Given the description of an element on the screen output the (x, y) to click on. 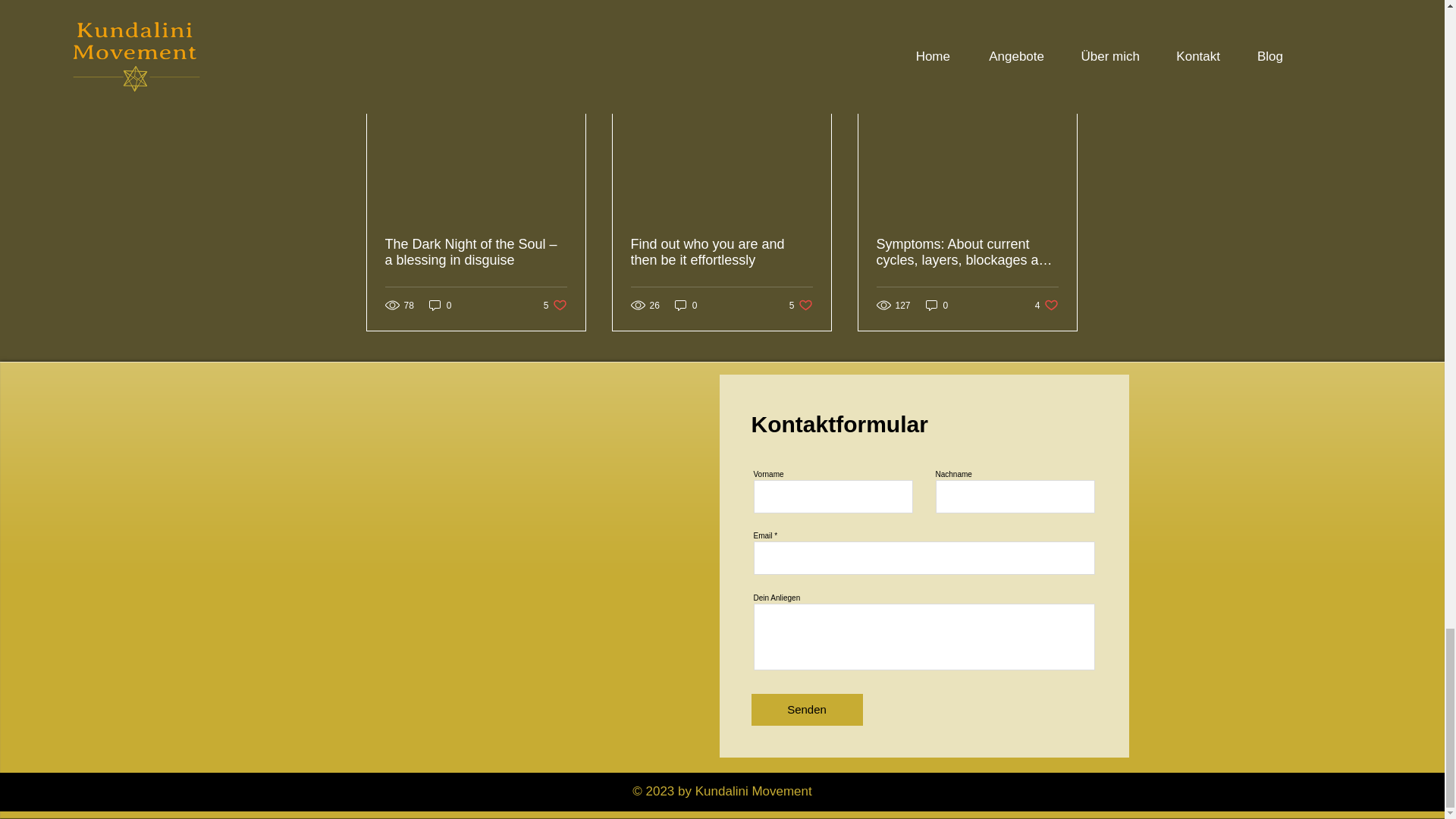
Senden (806, 709)
0 (685, 305)
0 (440, 305)
0 (555, 305)
See All (800, 305)
Find out who you are and then be it effortlessly (1046, 305)
